Given the description of an element on the screen output the (x, y) to click on. 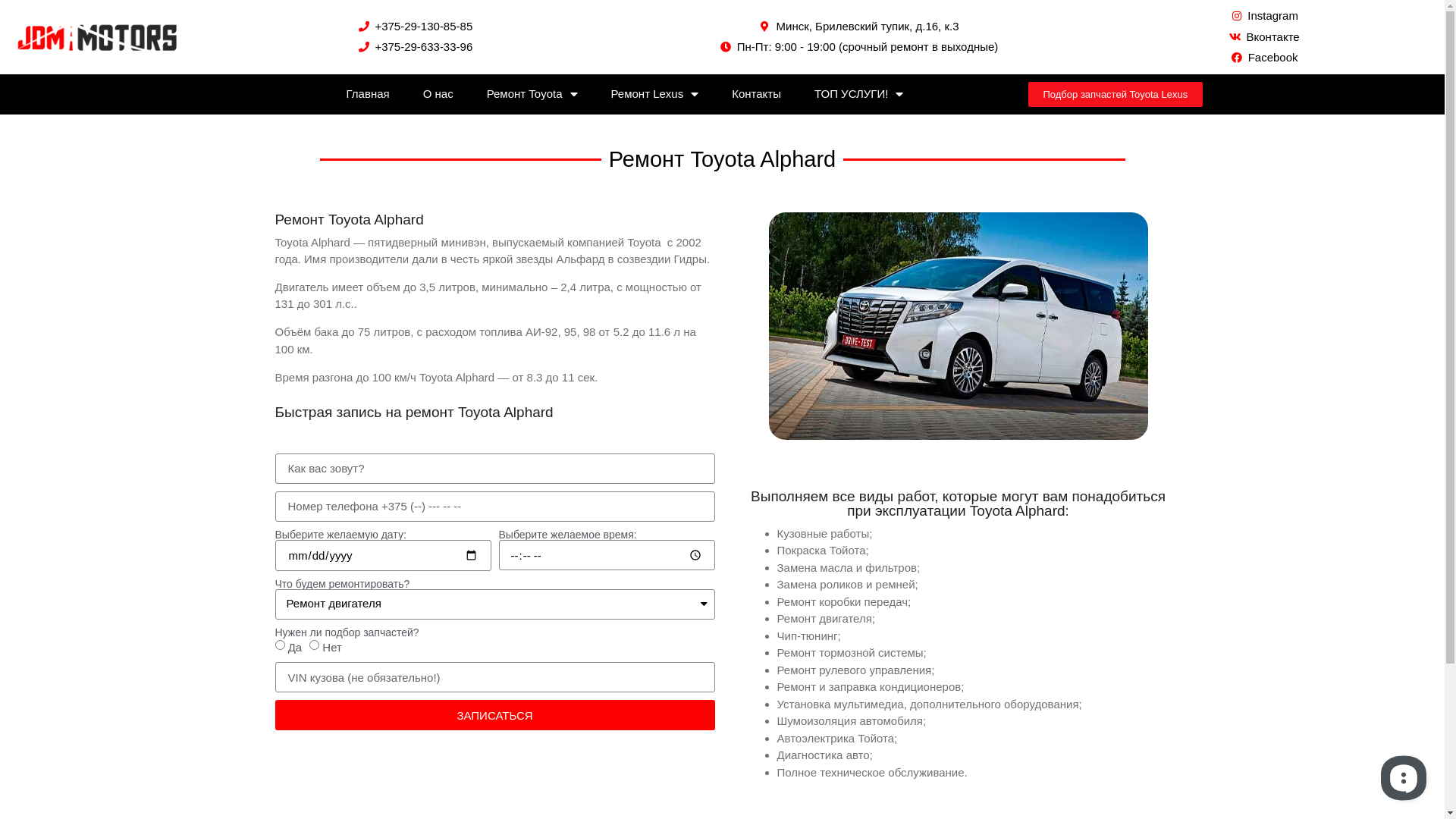
Facebook Element type: text (1264, 57)
__replain_widget_iframe Element type: hover (1402, 776)
Instagram Element type: text (1264, 16)
+375-29-633-33-96 Element type: text (414, 47)
+375-29-130-85-85 Element type: text (414, 26)
